Given the description of an element on the screen output the (x, y) to click on. 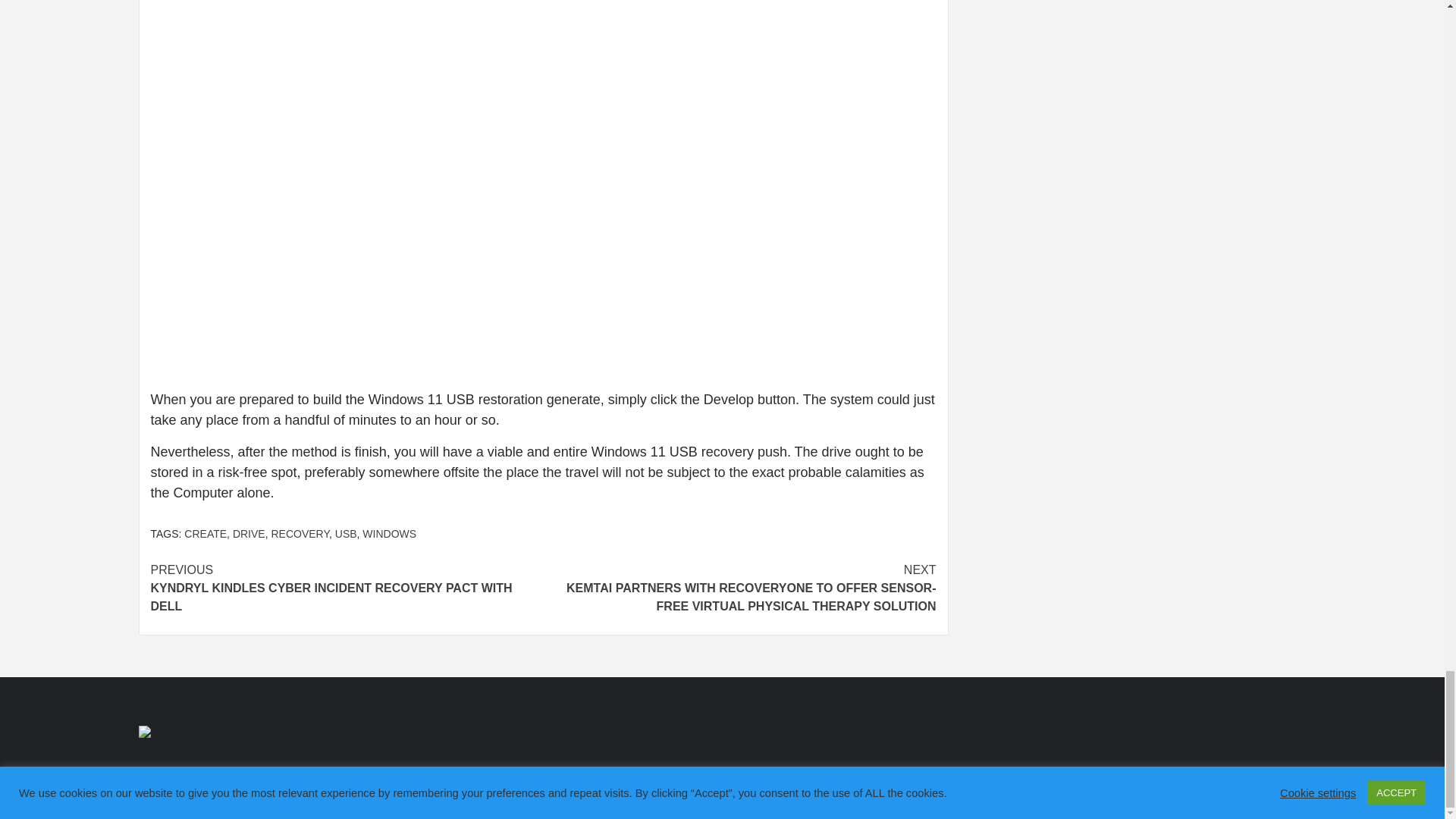
CREATE (205, 533)
WINDOWS (389, 533)
RECOVERY (299, 533)
USB (345, 533)
DRIVE (248, 533)
